Given the description of an element on the screen output the (x, y) to click on. 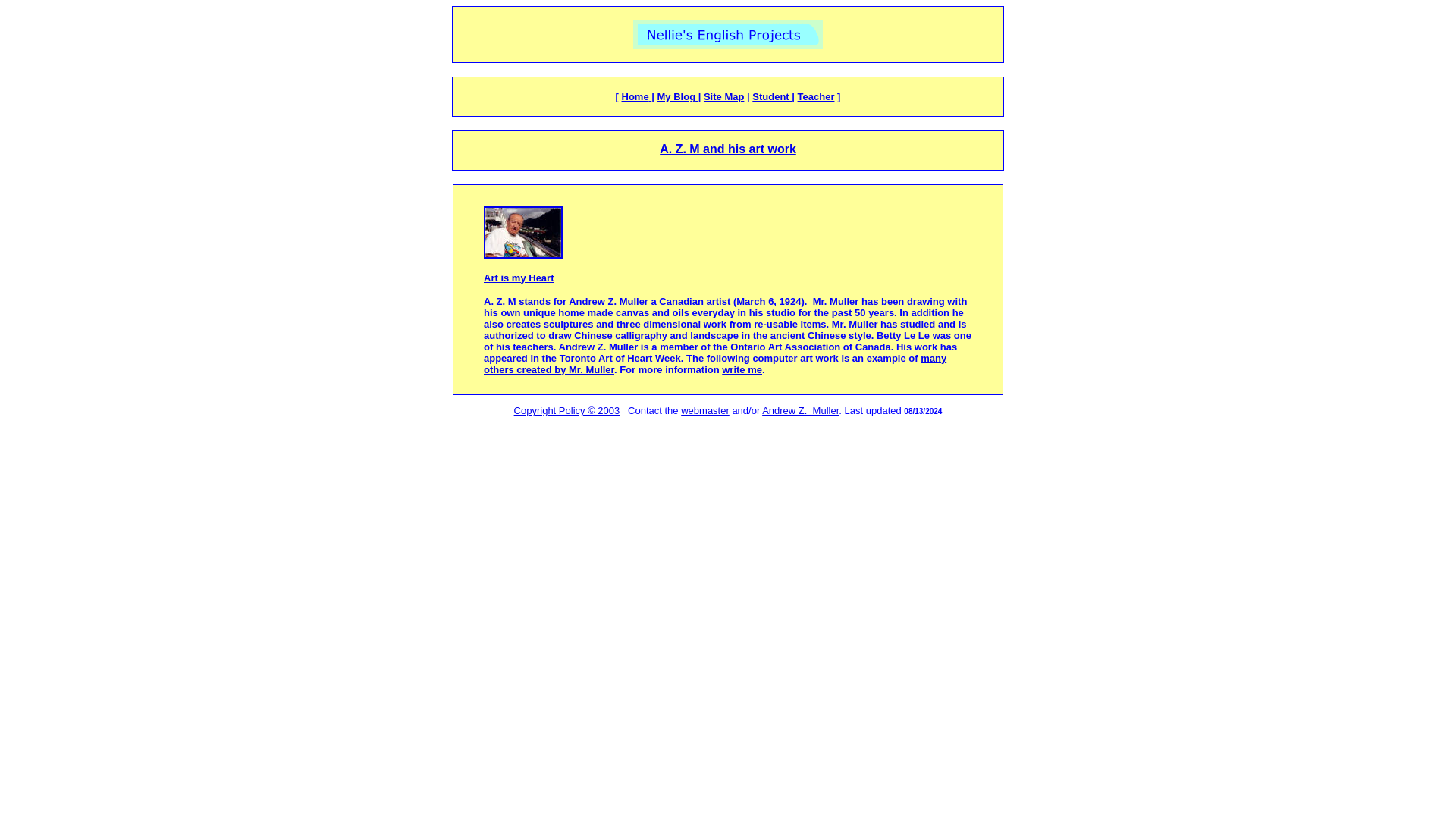
A. Z. M and his art work (727, 148)
webmaster (705, 410)
Andrew Z.  Muller (799, 410)
many others created by Mr. Muller (714, 363)
Student (770, 96)
Teacher (815, 96)
My Blog (678, 96)
Site Map (723, 96)
Art is my Heart (518, 276)
Home (636, 96)
